Given the description of an element on the screen output the (x, y) to click on. 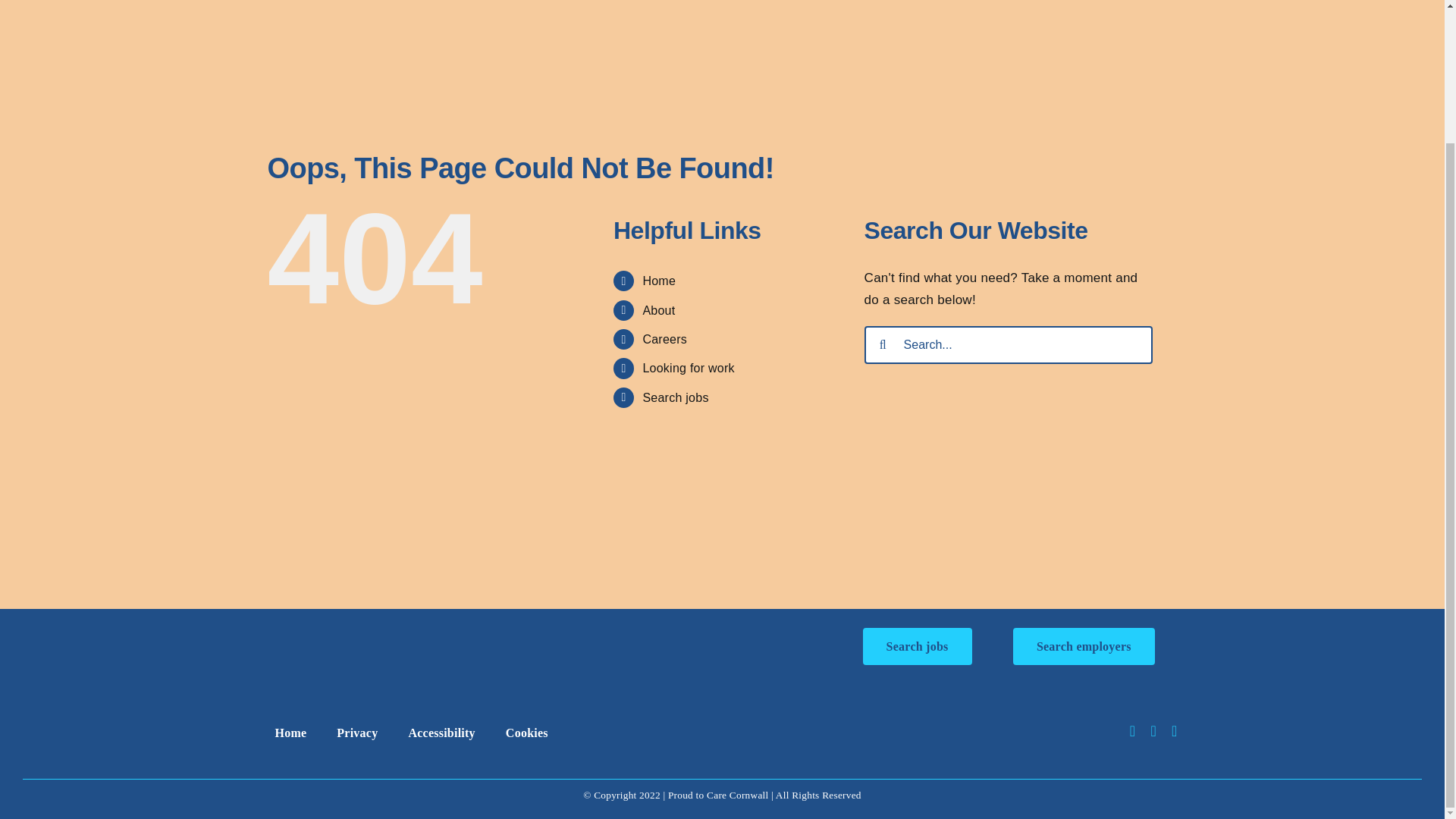
Careers (664, 338)
Home (658, 280)
Search employers (1083, 646)
About (658, 309)
Search jobs (917, 646)
Privacy (357, 734)
Home (290, 734)
Looking for work (687, 367)
Accessibility (440, 734)
Search jobs (674, 397)
